Given the description of an element on the screen output the (x, y) to click on. 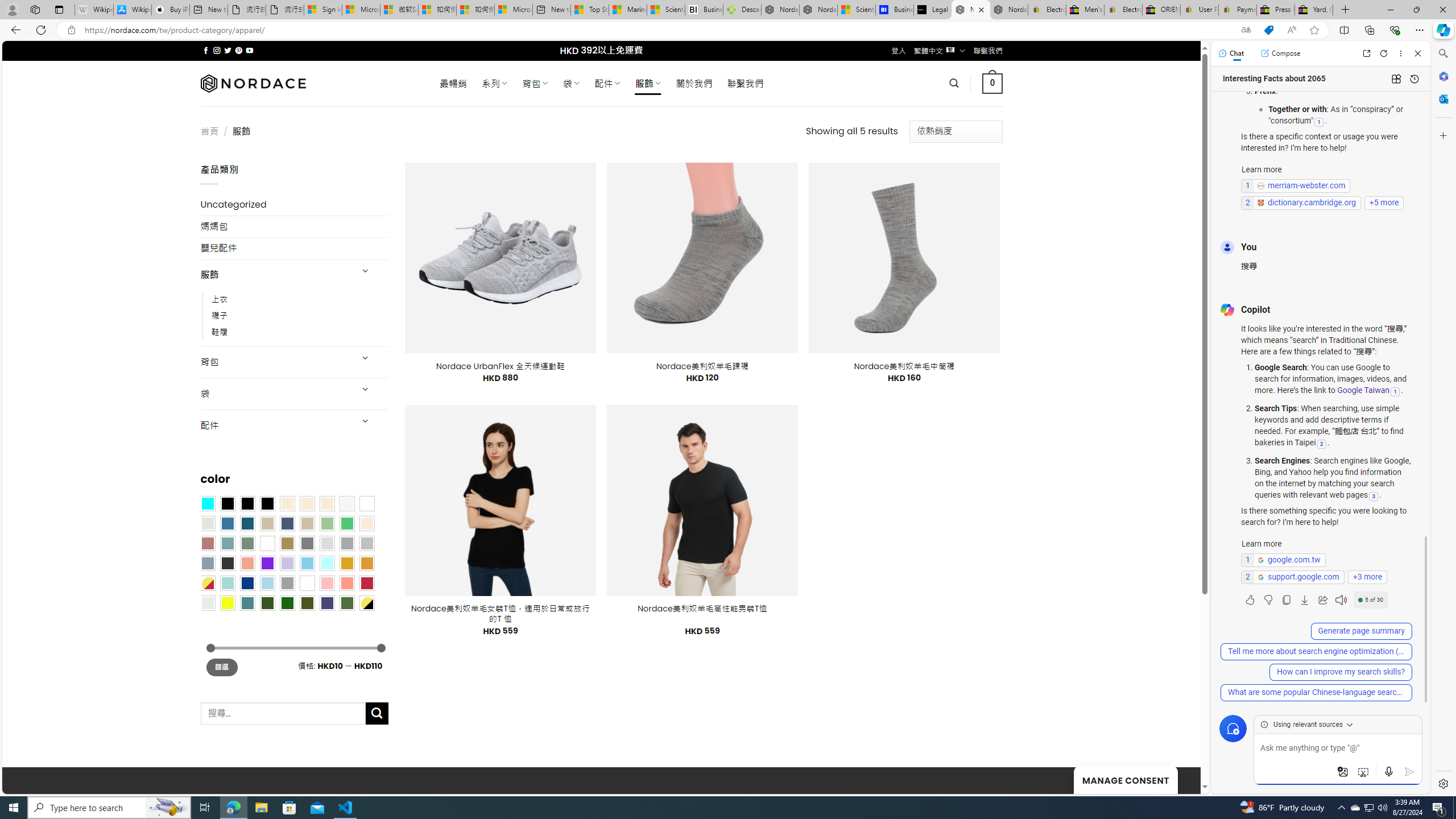
Follow on YouTube (249, 50)
